Given the description of an element on the screen output the (x, y) to click on. 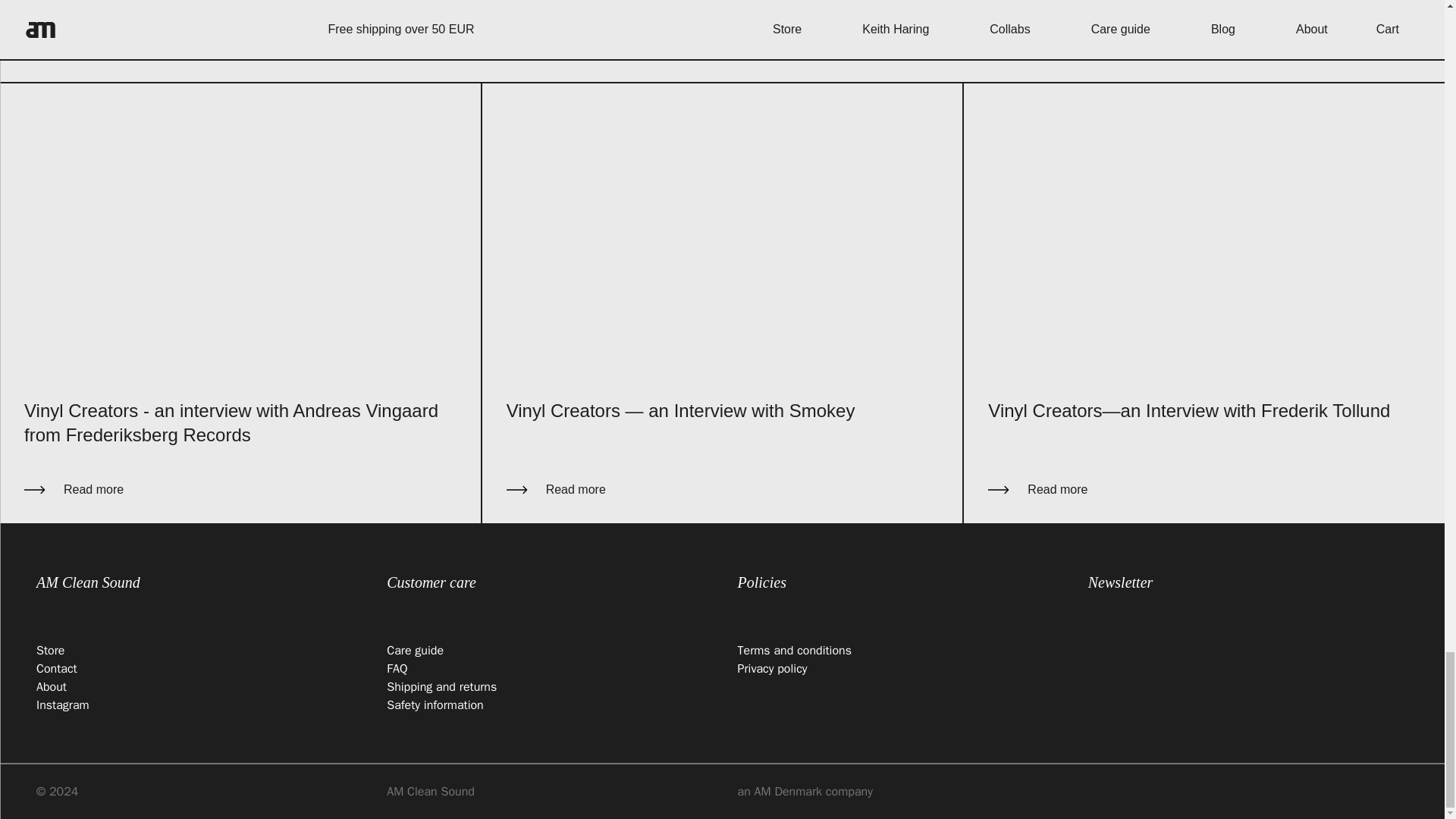
Shipping and returns (441, 686)
About (51, 686)
Read more (1204, 489)
an AM Denmark company (896, 791)
Store (50, 650)
Read more (722, 489)
Contact (56, 668)
Safety information (435, 704)
Read more (240, 489)
Instagram (62, 704)
FAQ (397, 668)
Privacy policy (771, 668)
Care guide (415, 650)
Terms and conditions (793, 650)
